Given the description of an element on the screen output the (x, y) to click on. 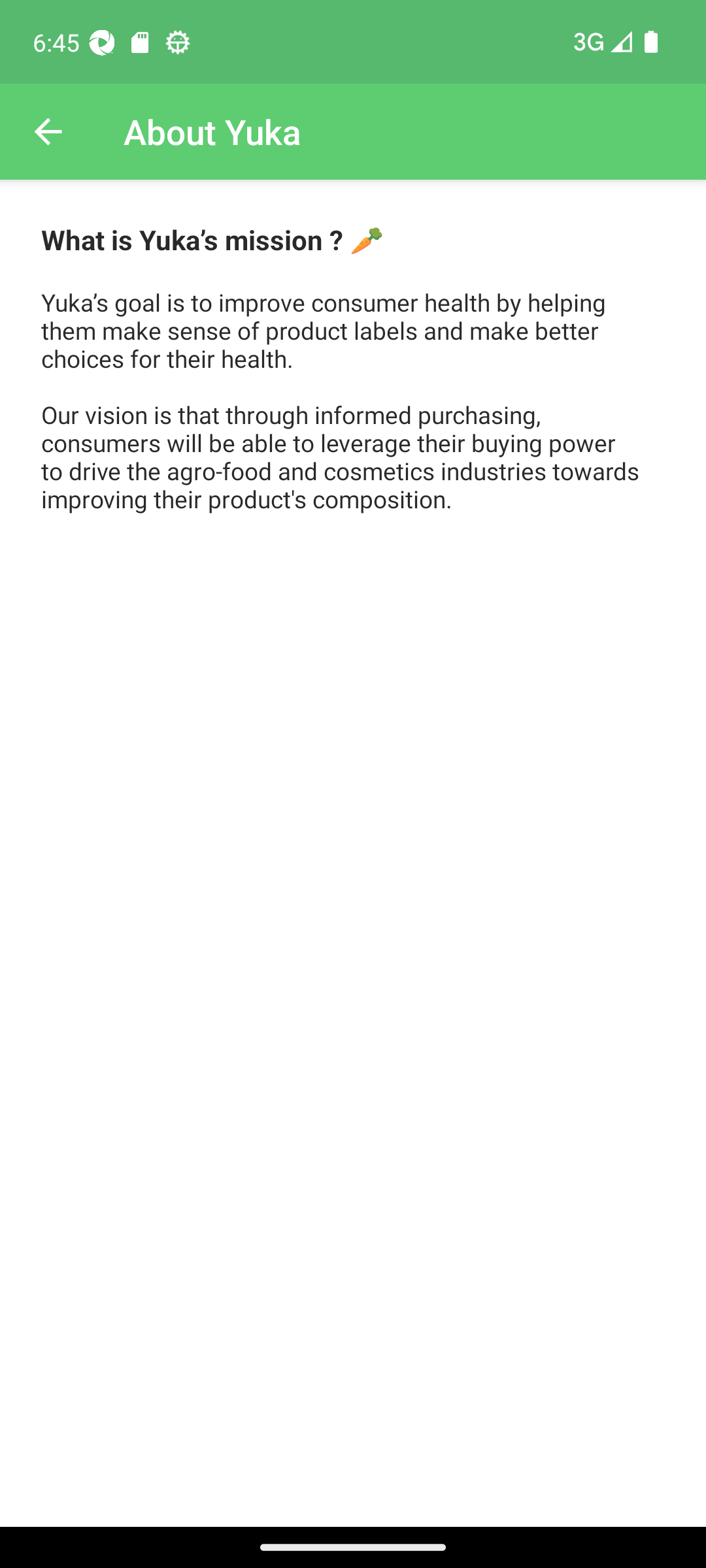
Navigate up (48, 131)
